Given the description of an element on the screen output the (x, y) to click on. 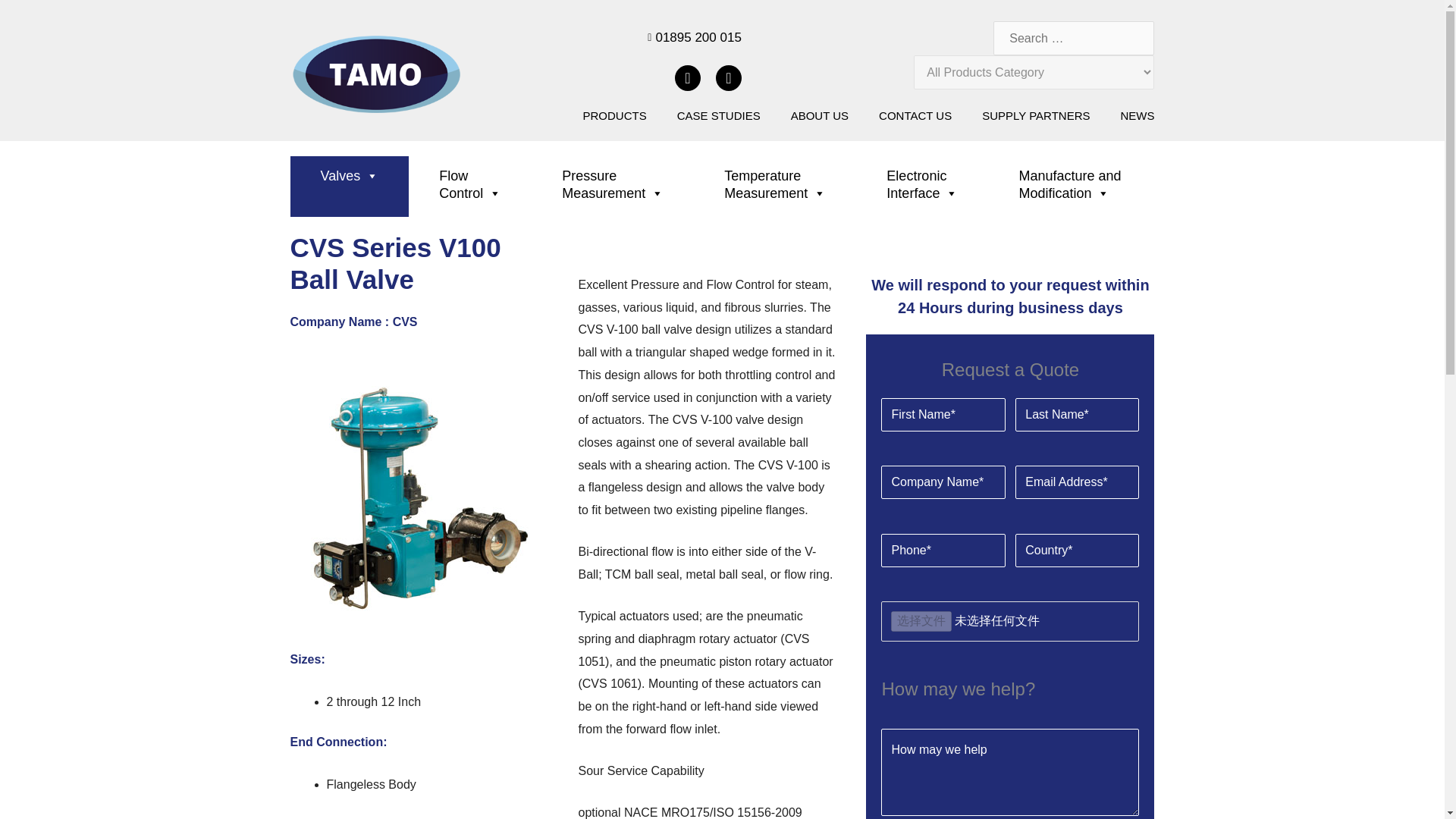
CONTACT US (915, 115)
ABOUT US (819, 115)
01895 200 015 (602, 37)
Submit (41, 24)
NEWS (1137, 115)
SUPPLY PARTNERS (1035, 115)
CASE STUDIES (718, 115)
PRODUCTS (614, 115)
